Given the description of an element on the screen output the (x, y) to click on. 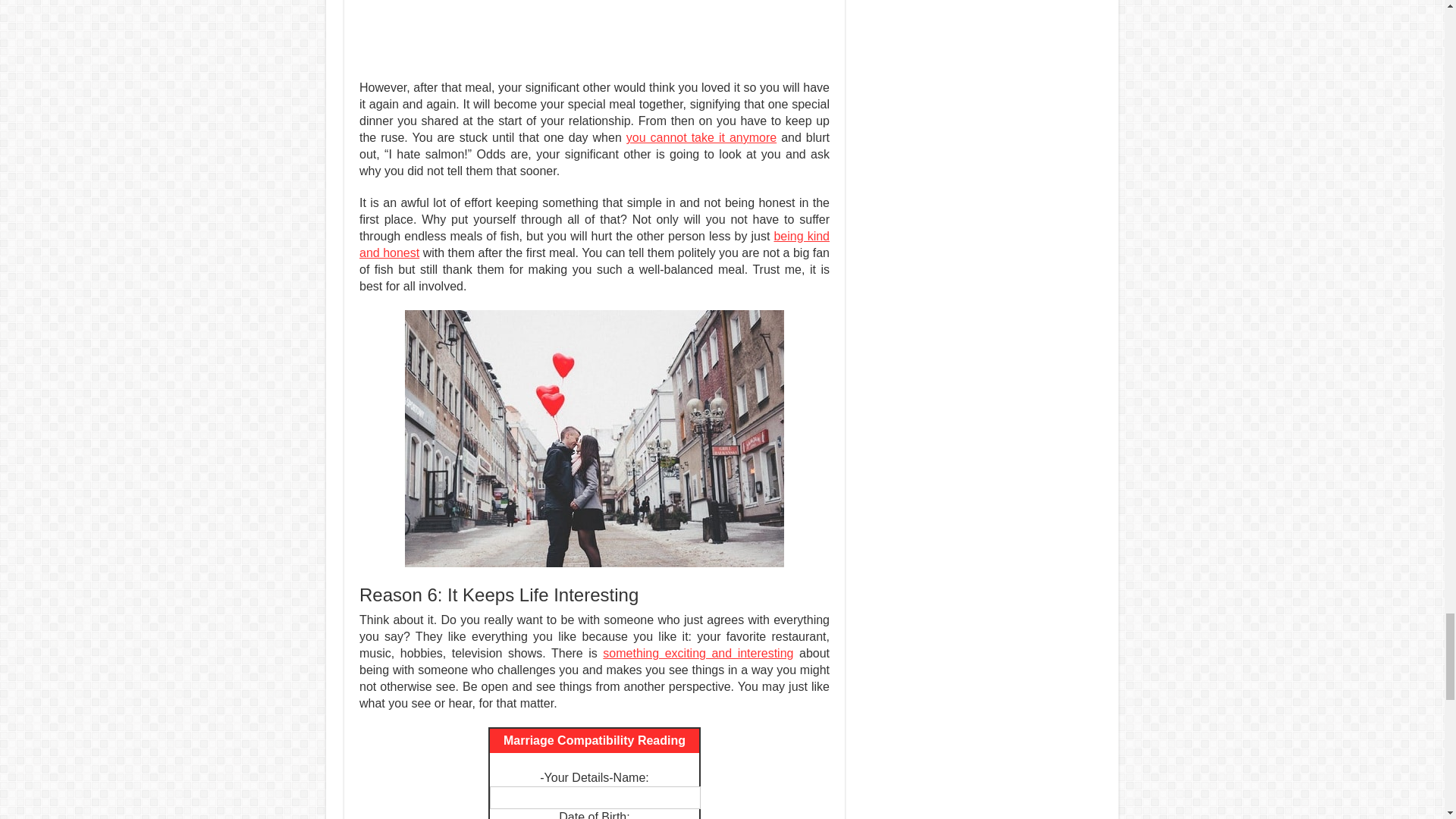
something exciting and interesting (697, 653)
being kind and honest (594, 244)
you cannot take it anymore (701, 137)
